Given the description of an element on the screen output the (x, y) to click on. 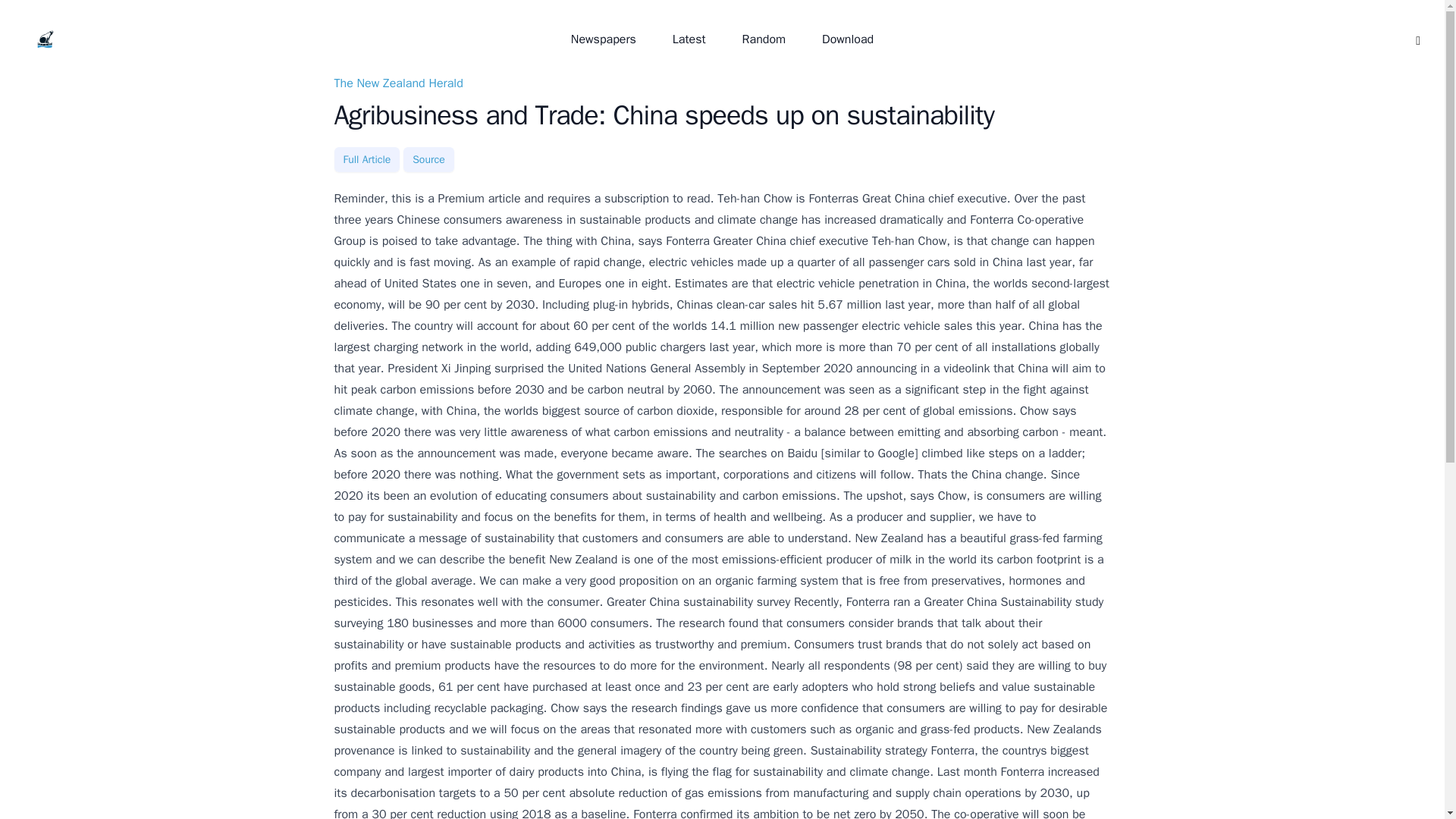
Download (847, 39)
Your Company (45, 39)
Latest (688, 39)
Source (428, 159)
Newspapers (603, 39)
The New Zealand Herald (398, 83)
Random (763, 39)
Full Article (365, 159)
